Given the description of an element on the screen output the (x, y) to click on. 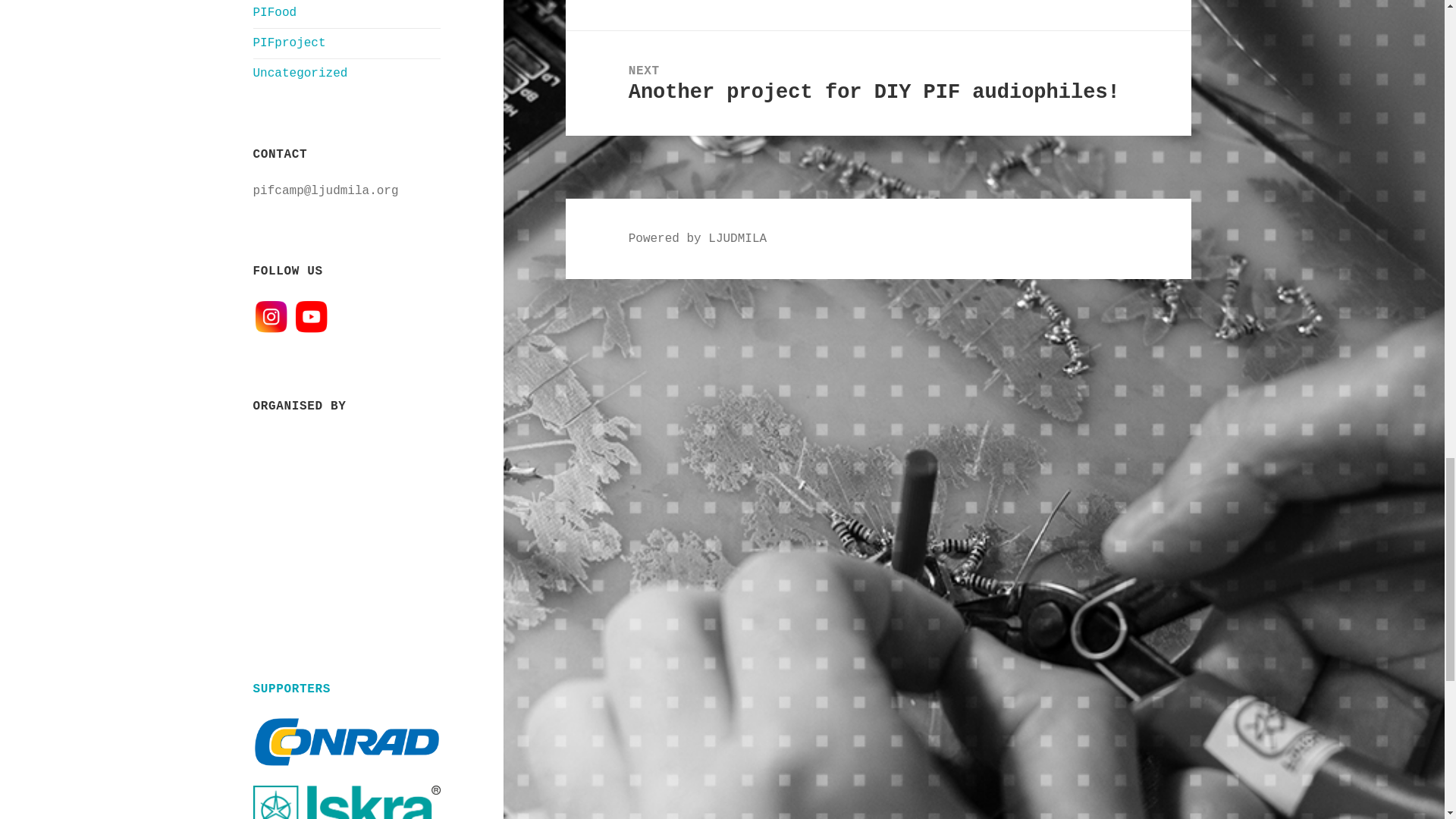
Uncategorized (300, 73)
PIFood (275, 12)
PIFproject (289, 42)
